Given the description of an element on the screen output the (x, y) to click on. 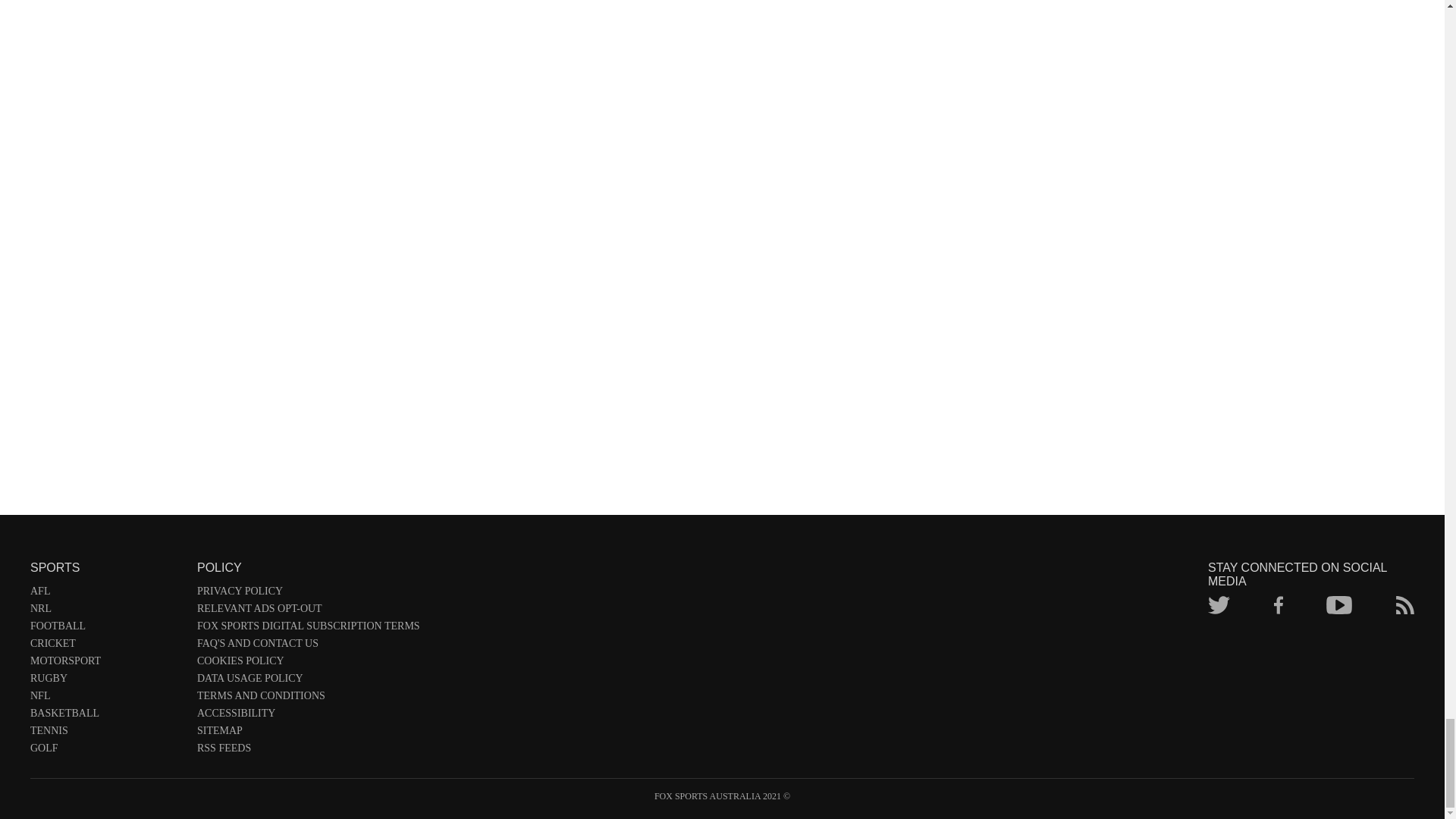
BASKETBALL (106, 715)
DATA USAGE POLICY (308, 681)
CRICKET (106, 646)
PRIVACY POLICY (308, 593)
AFL (106, 593)
TERMS AND CONDITIONS (308, 698)
NFL (106, 698)
TENNIS (106, 733)
FAQ'S AND CONTACT US (308, 646)
RUGBY (106, 681)
